Given the description of an element on the screen output the (x, y) to click on. 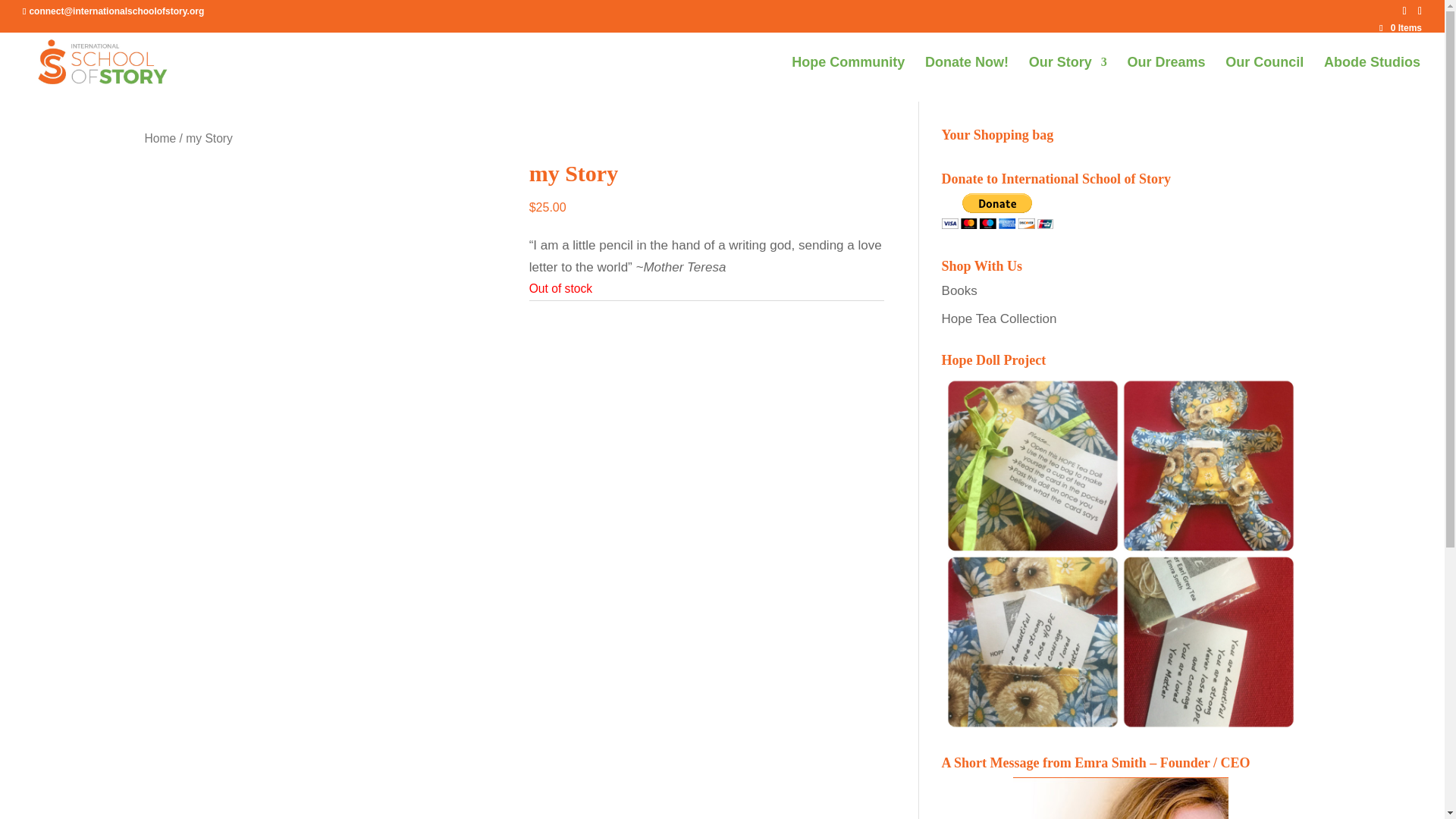
Books (959, 290)
Our Council (1264, 78)
Our Story (1067, 78)
0 Items (1400, 27)
Our Dreams (1165, 78)
Abode Studios (1372, 78)
Hope Tea Collection (999, 318)
PayPal - The safer, easier way to pay online! (997, 211)
Hope Community (848, 78)
Donate Now! (966, 78)
